Given the description of an element on the screen output the (x, y) to click on. 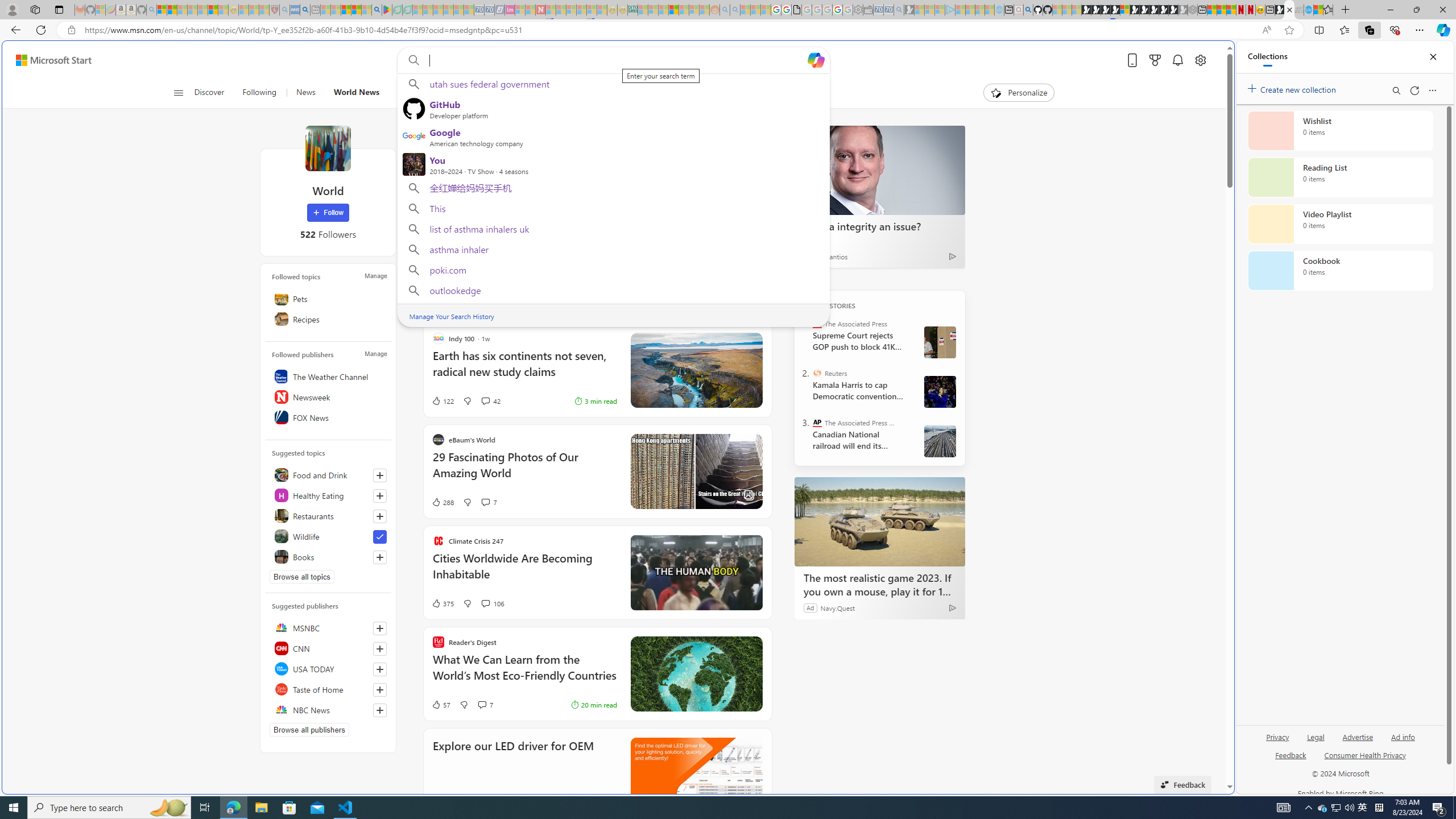
utah sues federal government - Search (922, 389)
Pets - MSN (356, 9)
Cookbook collection, 0 items (1339, 270)
